Given the description of an element on the screen output the (x, y) to click on. 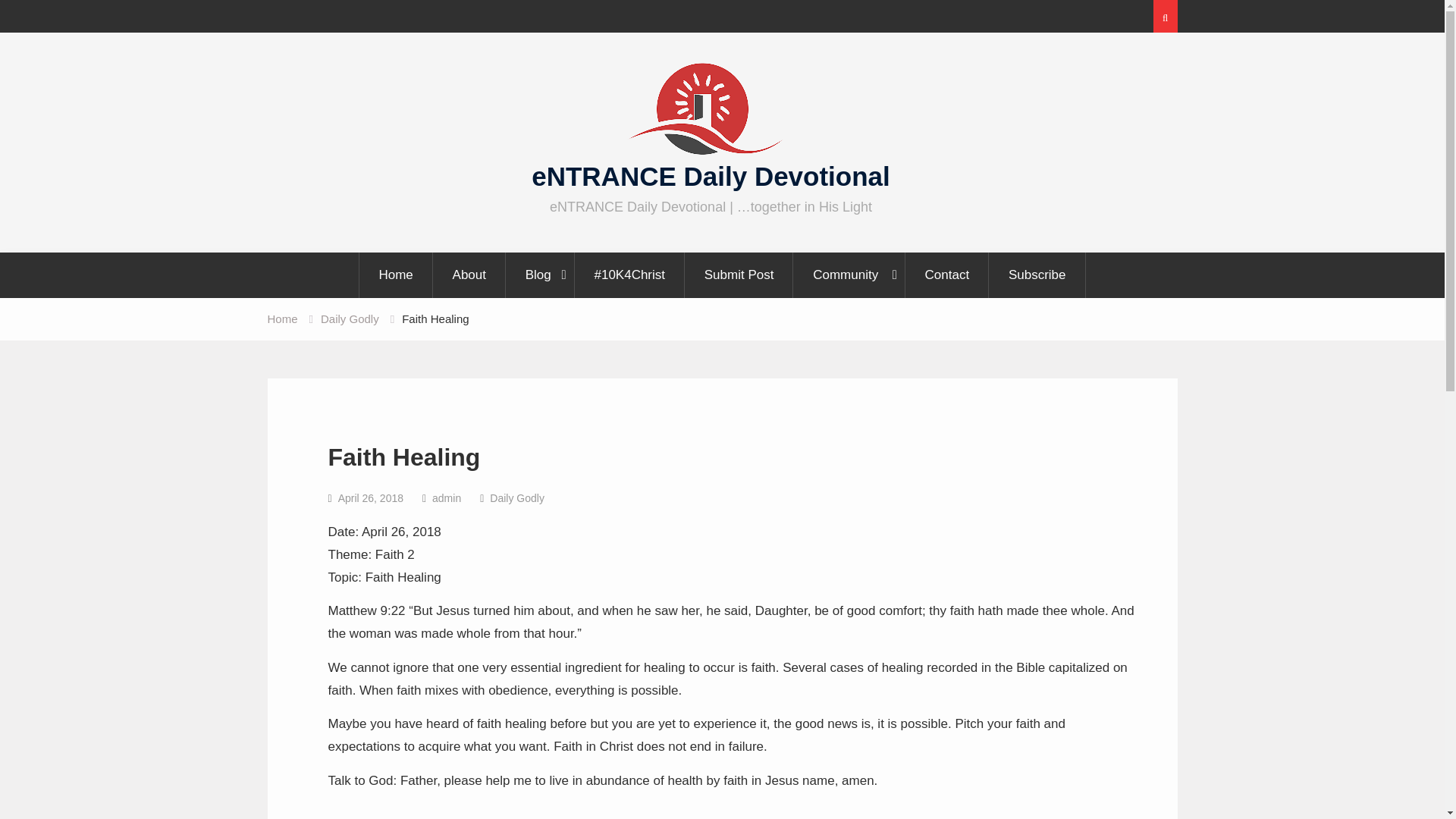
Submit Post (739, 275)
About (469, 275)
Blog (540, 275)
Contact (947, 275)
Subscribe (1038, 275)
Home (281, 318)
Community  (849, 275)
Home (395, 275)
Daily Godly (349, 318)
eNTRANCE Daily Devotional (710, 175)
